Given the description of an element on the screen output the (x, y) to click on. 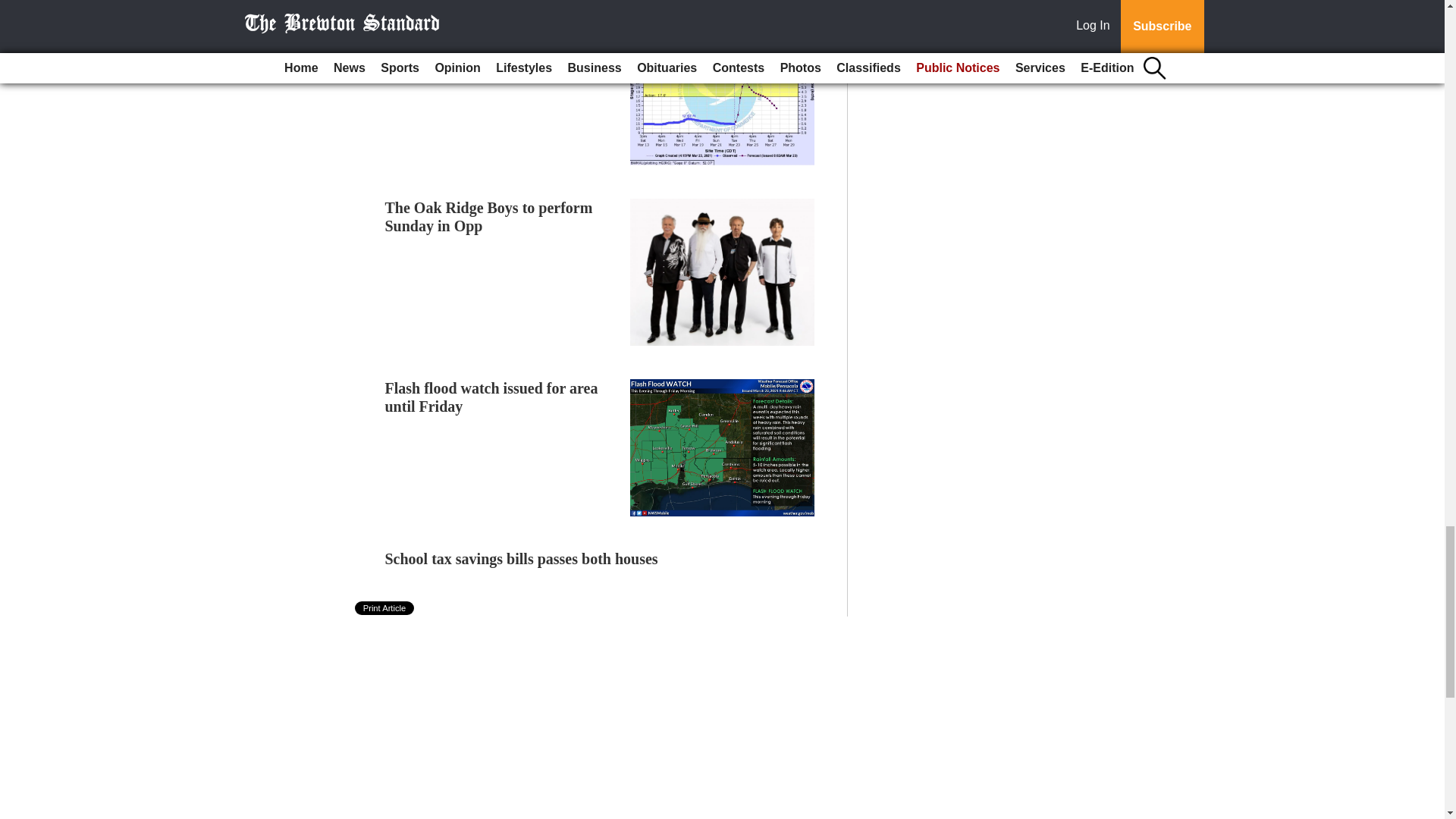
Print Article (384, 608)
School tax savings bills passes both houses (521, 558)
The Oak Ridge Boys to perform Sunday in Opp (488, 216)
Flash flood watch issued for area until Friday (491, 397)
Most weather impacts expected Wednesday, Thursday (486, 40)
Most weather impacts expected Wednesday, Thursday (486, 40)
Flash flood watch issued for area until Friday (491, 397)
School tax savings bills passes both houses (521, 558)
The Oak Ridge Boys to perform Sunday in Opp (488, 216)
